Given the description of an element on the screen output the (x, y) to click on. 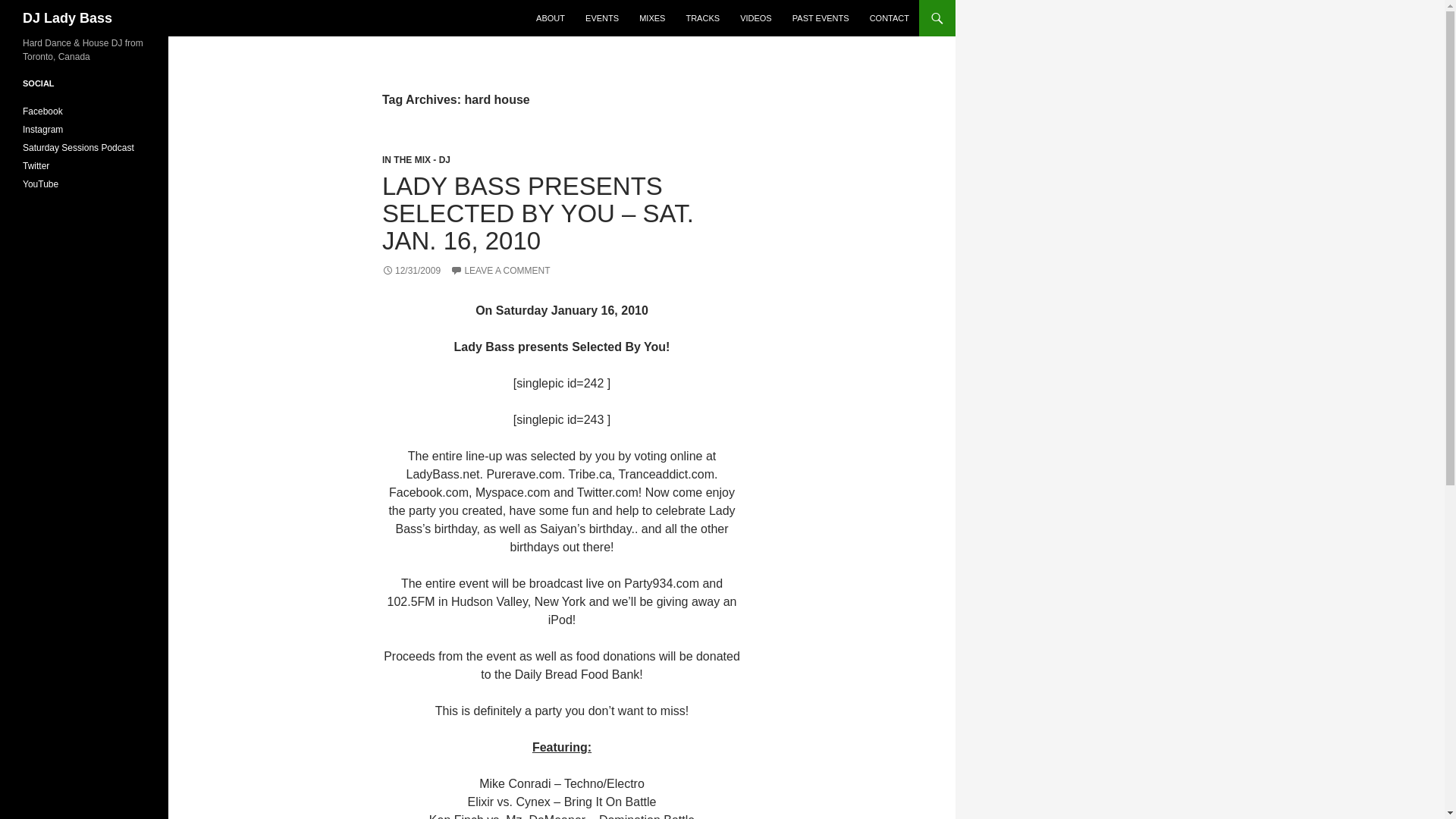
PAST EVENTS (821, 18)
TRACKS (703, 18)
DJ Lady Bass (67, 18)
VIDEOS (755, 18)
EVENTS (601, 18)
A fanpage dedicated to everything Lady Bass (42, 111)
ABOUT (550, 18)
MIXES (652, 18)
CONTACT (889, 18)
LEAVE A COMMENT (499, 270)
IN THE MIX - DJ (415, 159)
